Given the description of an element on the screen output the (x, y) to click on. 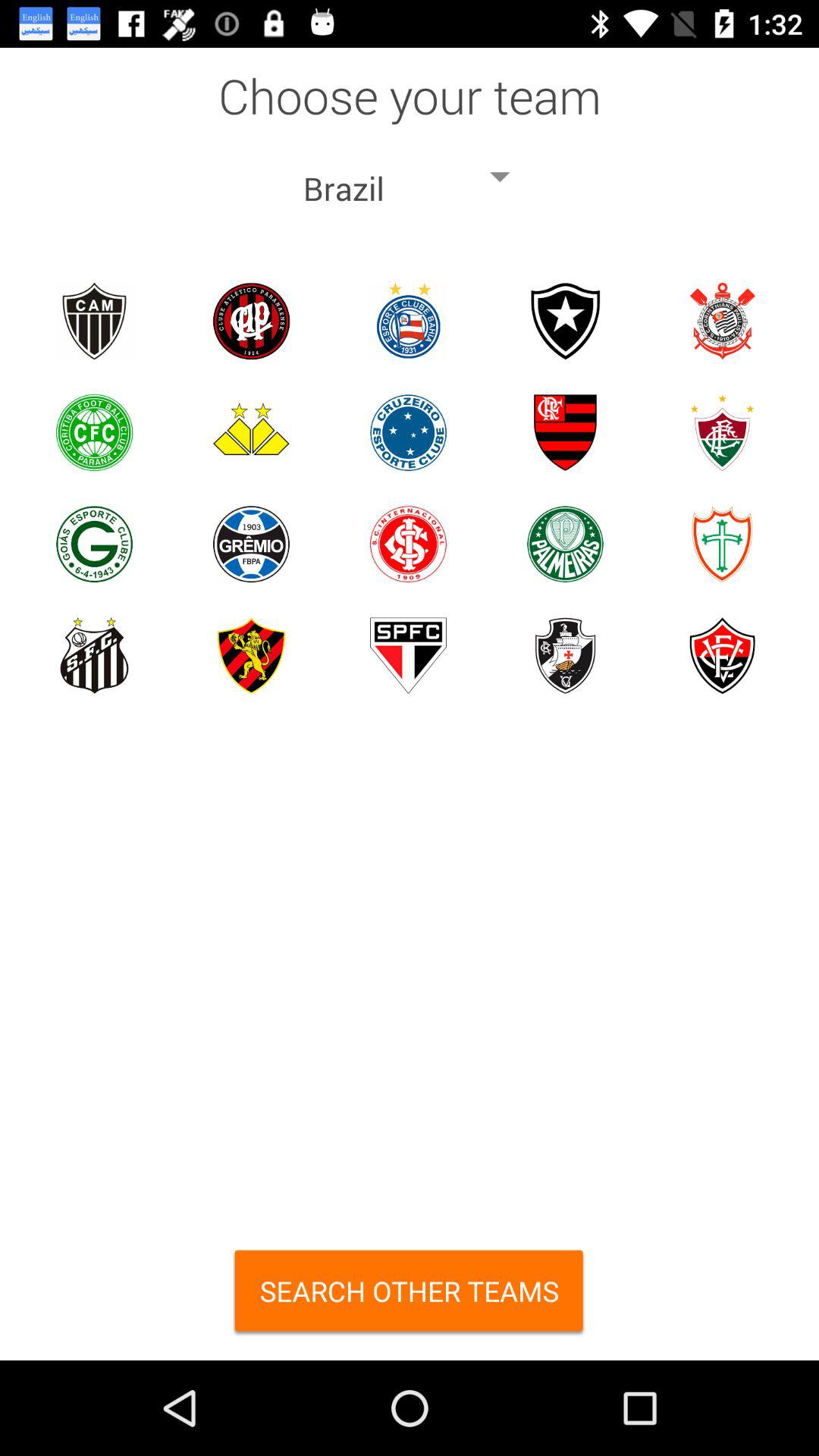
team selection (722, 655)
